Given the description of an element on the screen output the (x, y) to click on. 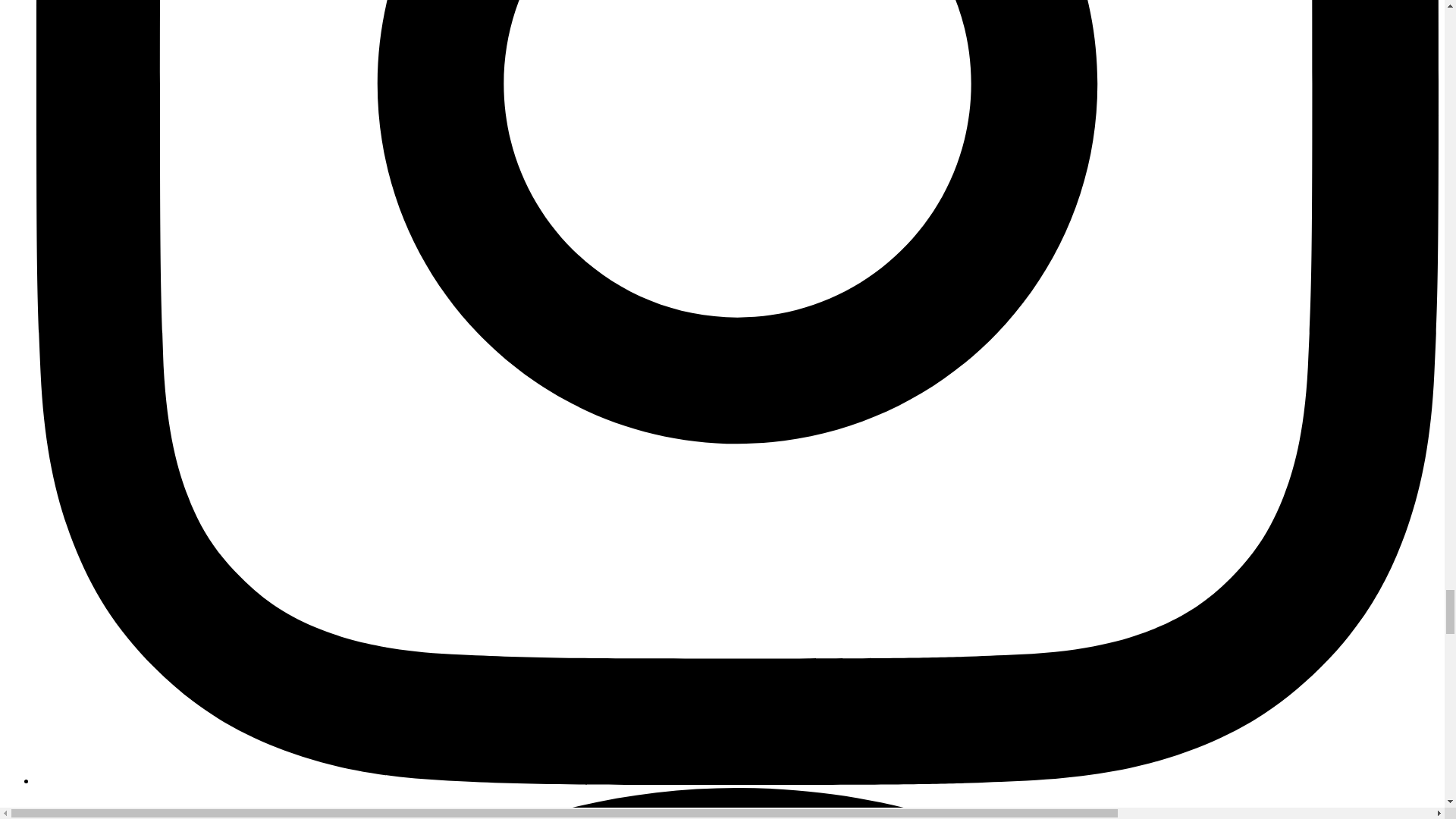
Spotify (737, 803)
